Given the description of an element on the screen output the (x, y) to click on. 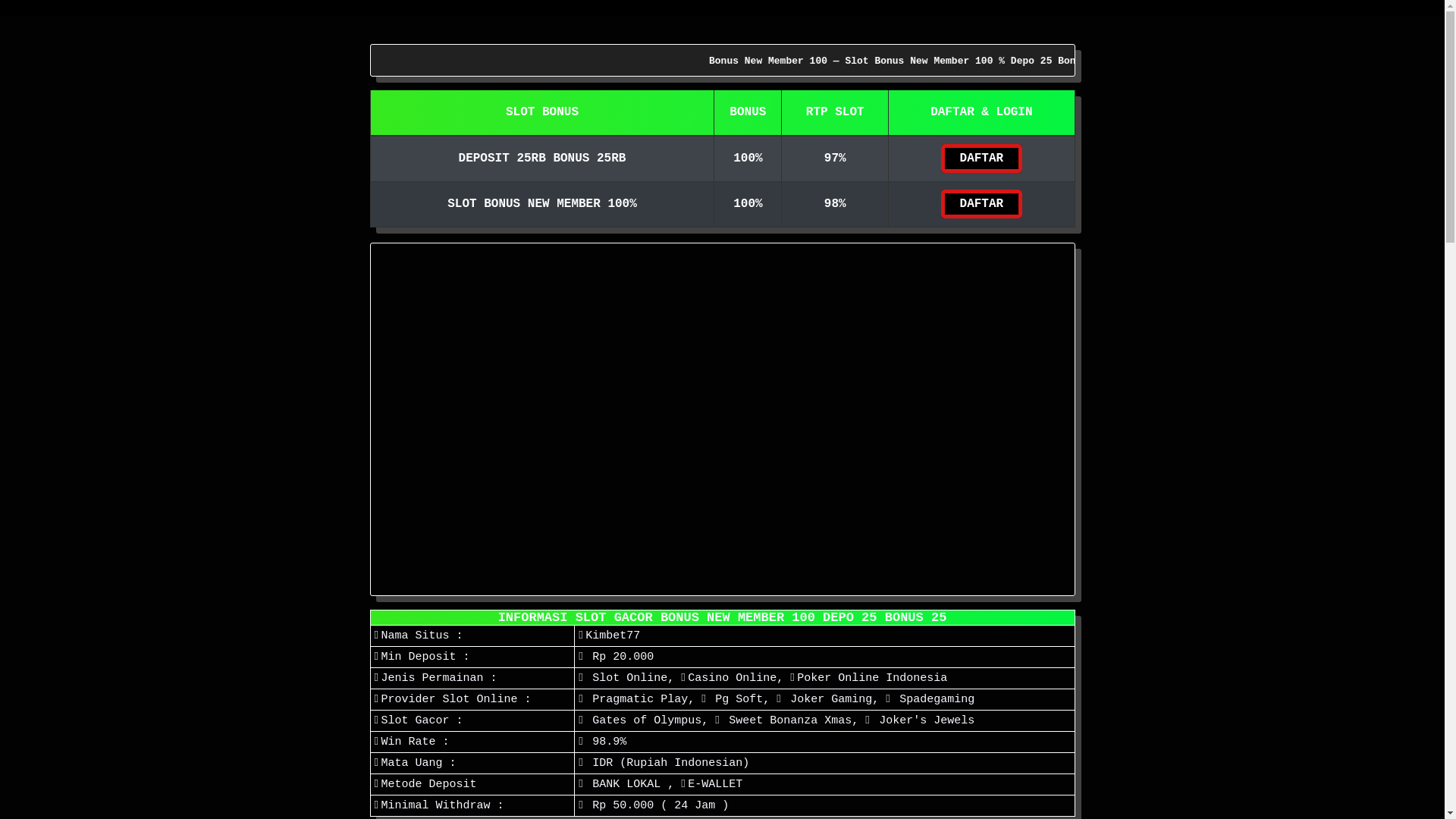
Slot Bonus New Member 100 Kimbet77 Slot Depo 25 Bonus 25 Element type: hover (721, 419)
DAFTAR Element type: text (981, 158)
DAFTAR Element type: text (981, 203)
